Given the description of an element on the screen output the (x, y) to click on. 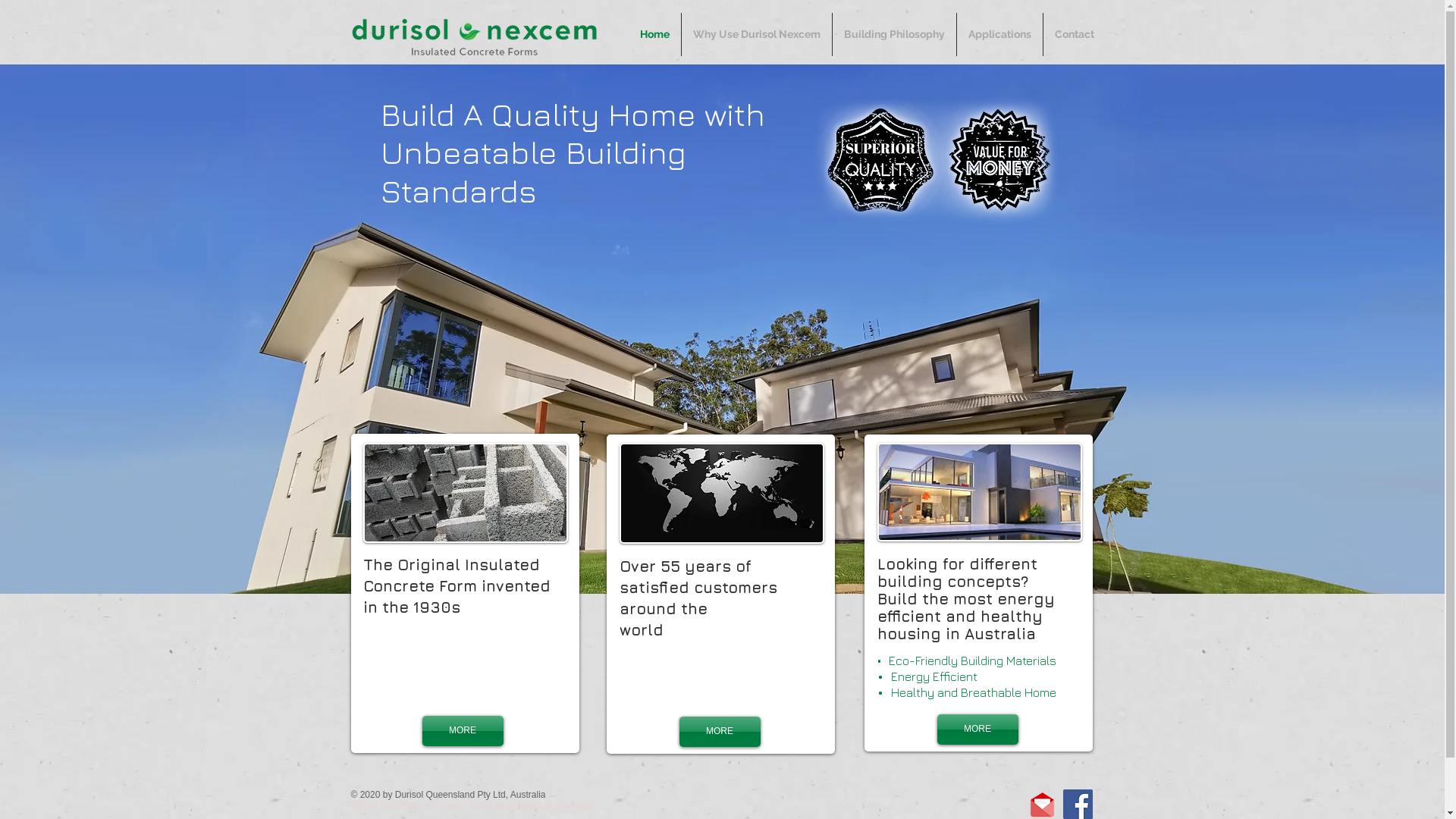
Home Element type: text (654, 34)
Building Philosophy Element type: text (894, 34)
Applications Element type: text (999, 34)
Contact Element type: text (1074, 34)
www.durisol.com.au Element type: text (549, 805)
MORE Element type: text (977, 729)
Why Use Durisol Nexcem Element type: text (756, 34)
MORE Element type: text (719, 731)
MORE Element type: text (461, 730)
